Given the description of an element on the screen output the (x, y) to click on. 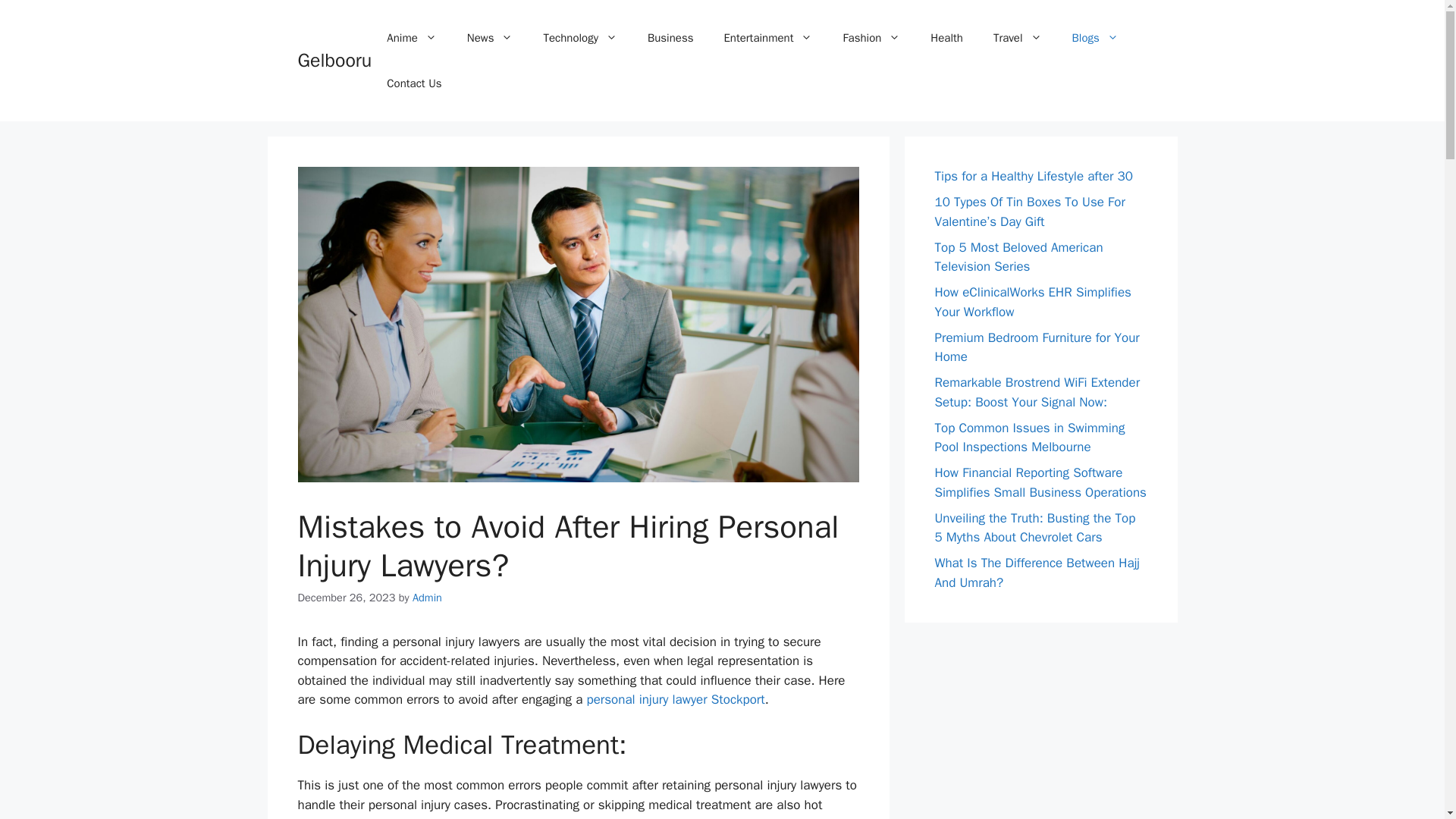
Technology (579, 37)
Top 5 Most Beloved American Television Series (1018, 257)
Admin (427, 597)
Contact Us (414, 83)
News (489, 37)
How eClinicalWorks EHR Simplifies Your Workflow (1032, 302)
Health (946, 37)
Blogs (1095, 37)
Tips for a Healthy Lifestyle after 30 (1033, 176)
personal injury lawyer Stockport (675, 699)
Business (670, 37)
Gelbooru (334, 60)
Entertainment (767, 37)
Fashion (871, 37)
